Given the description of an element on the screen output the (x, y) to click on. 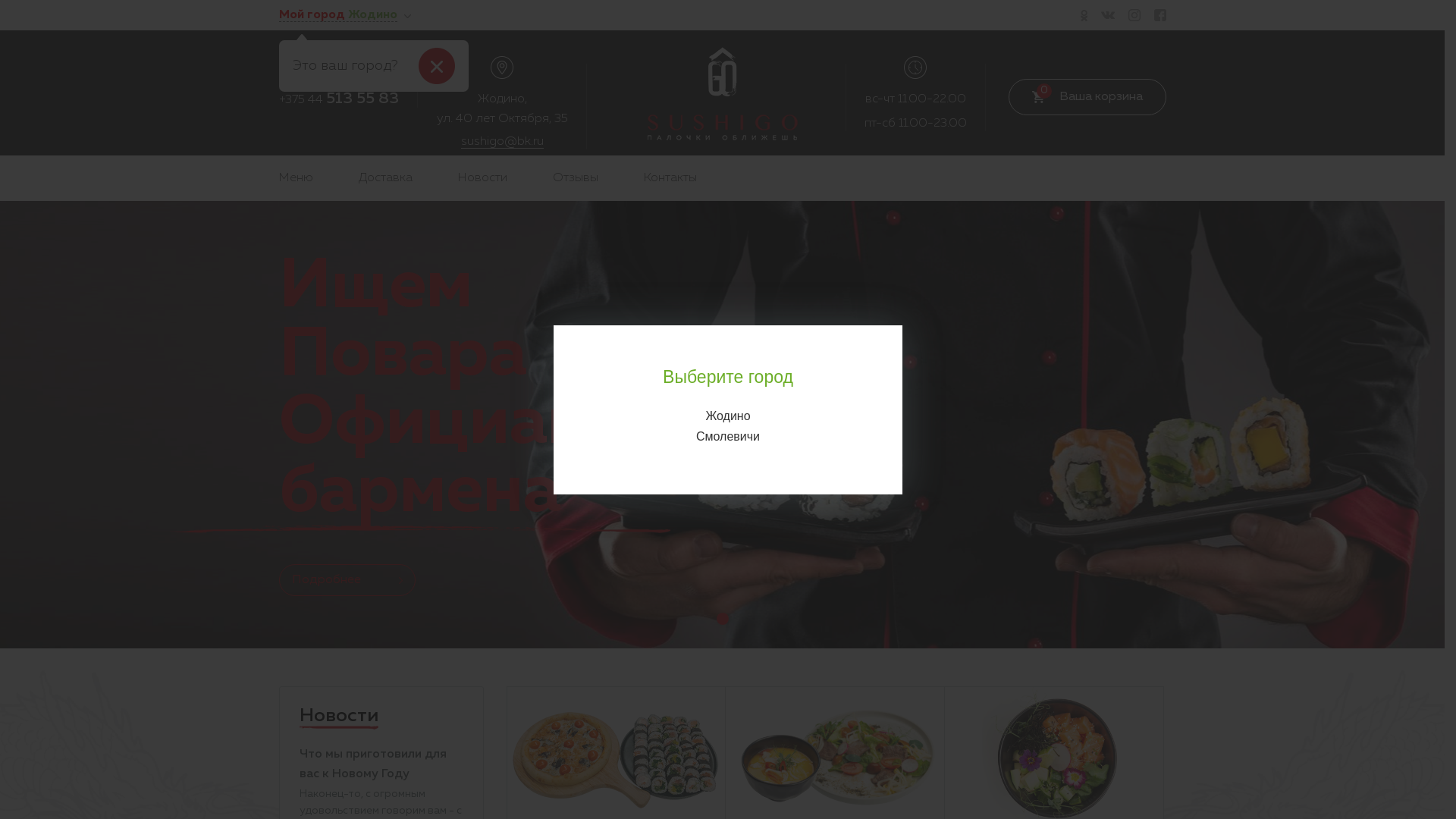
sushigo@bk.ru Element type: text (502, 141)
1 Element type: text (721, 618)
+375 44 513 55 83 Element type: text (338, 100)
